Given the description of an element on the screen output the (x, y) to click on. 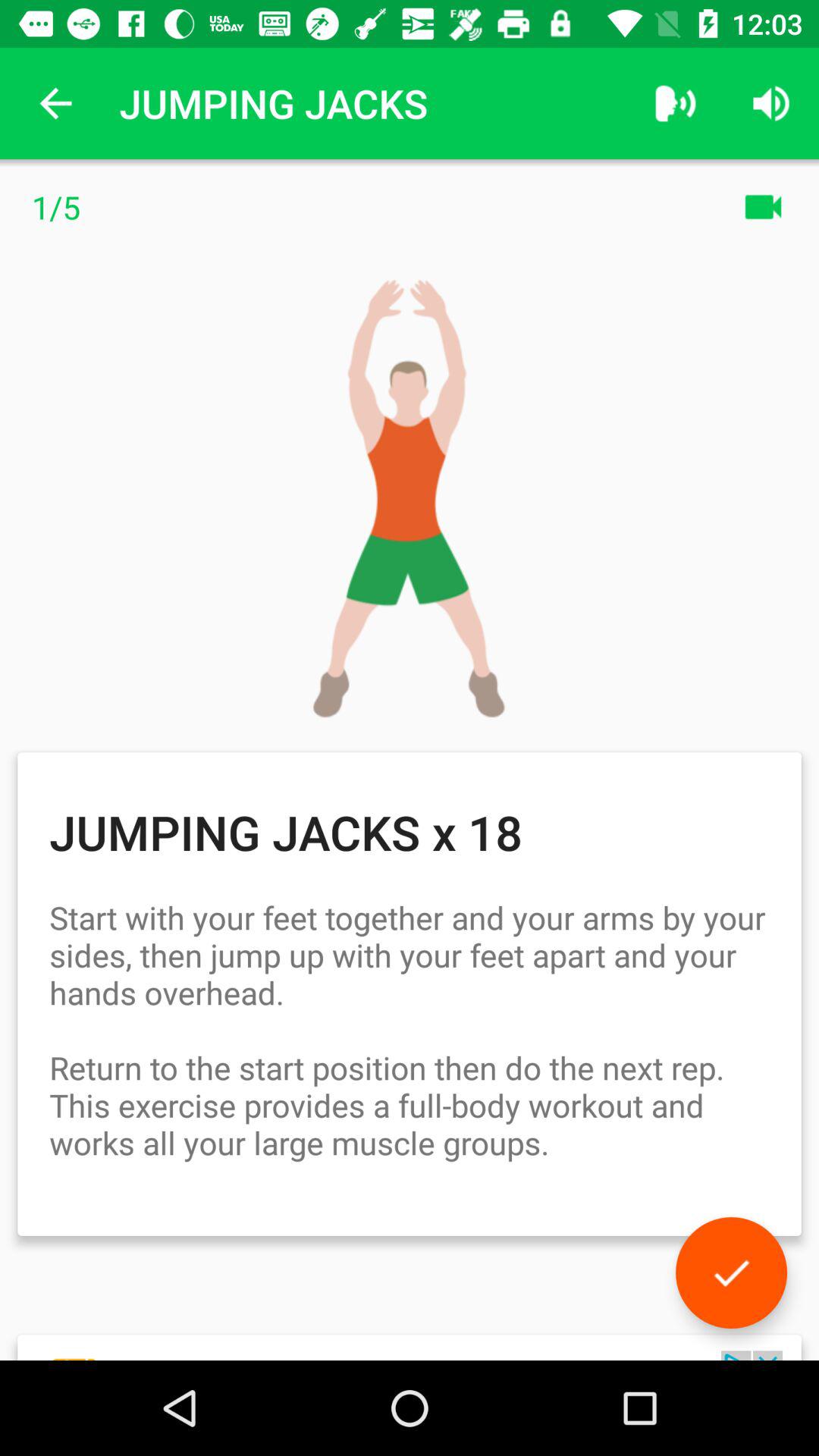
select item next to jumping jacks icon (55, 103)
